Given the description of an element on the screen output the (x, y) to click on. 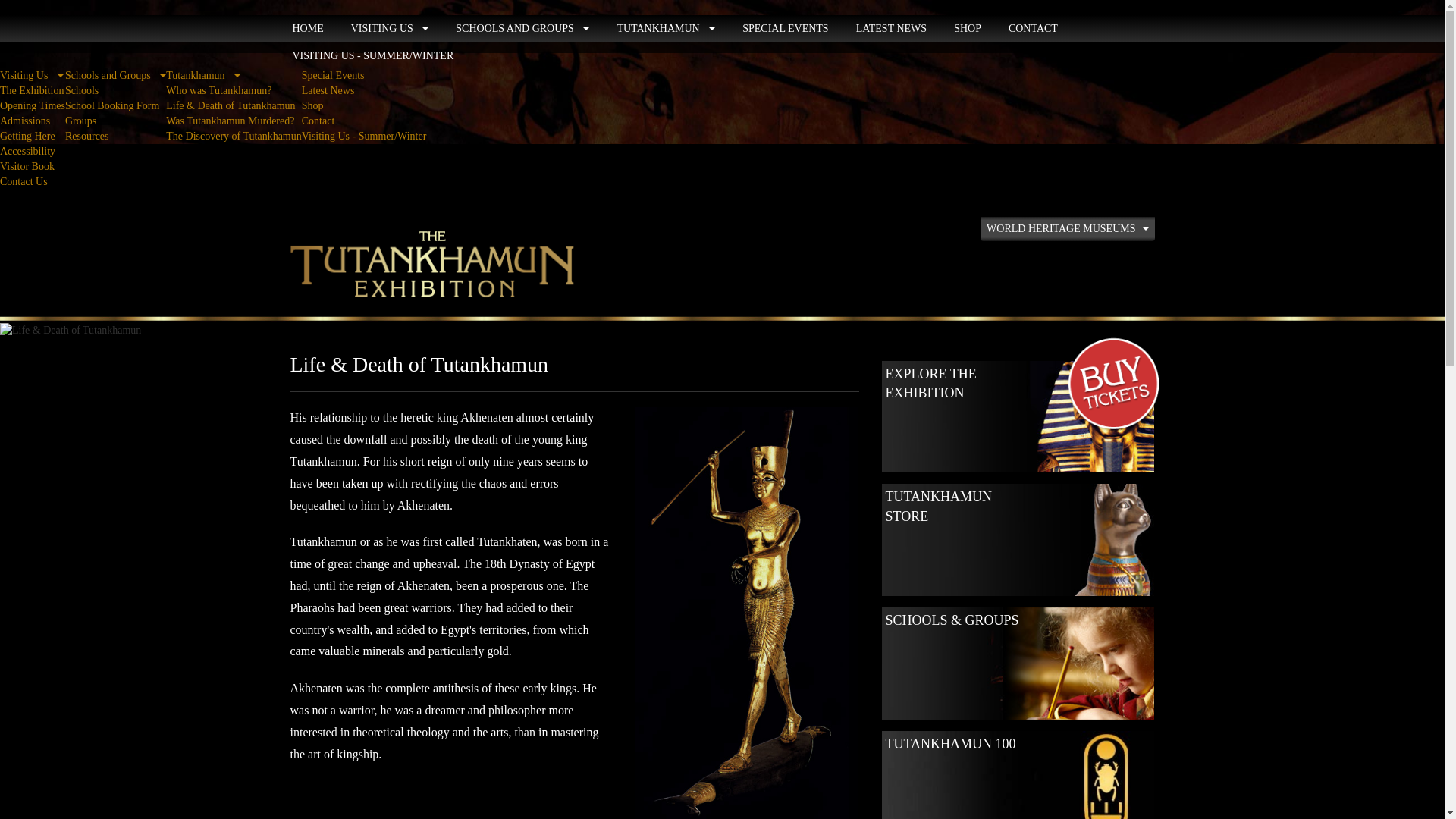
LATEST NEWS (891, 28)
TUTANKHAMUN (665, 28)
Visiting Us (32, 75)
Buy Tickets online for the Dinosaur Museum (1112, 386)
Schools (115, 90)
Groups (115, 120)
Tutankhamun (233, 75)
Schools and Groups (115, 75)
SPECIAL EVENTS (785, 28)
Resources (115, 136)
Visitor Book (32, 166)
Admissions (32, 120)
SCHOOLS AND GROUPS (522, 28)
HOME (308, 28)
Accessibility (32, 151)
